Given the description of an element on the screen output the (x, y) to click on. 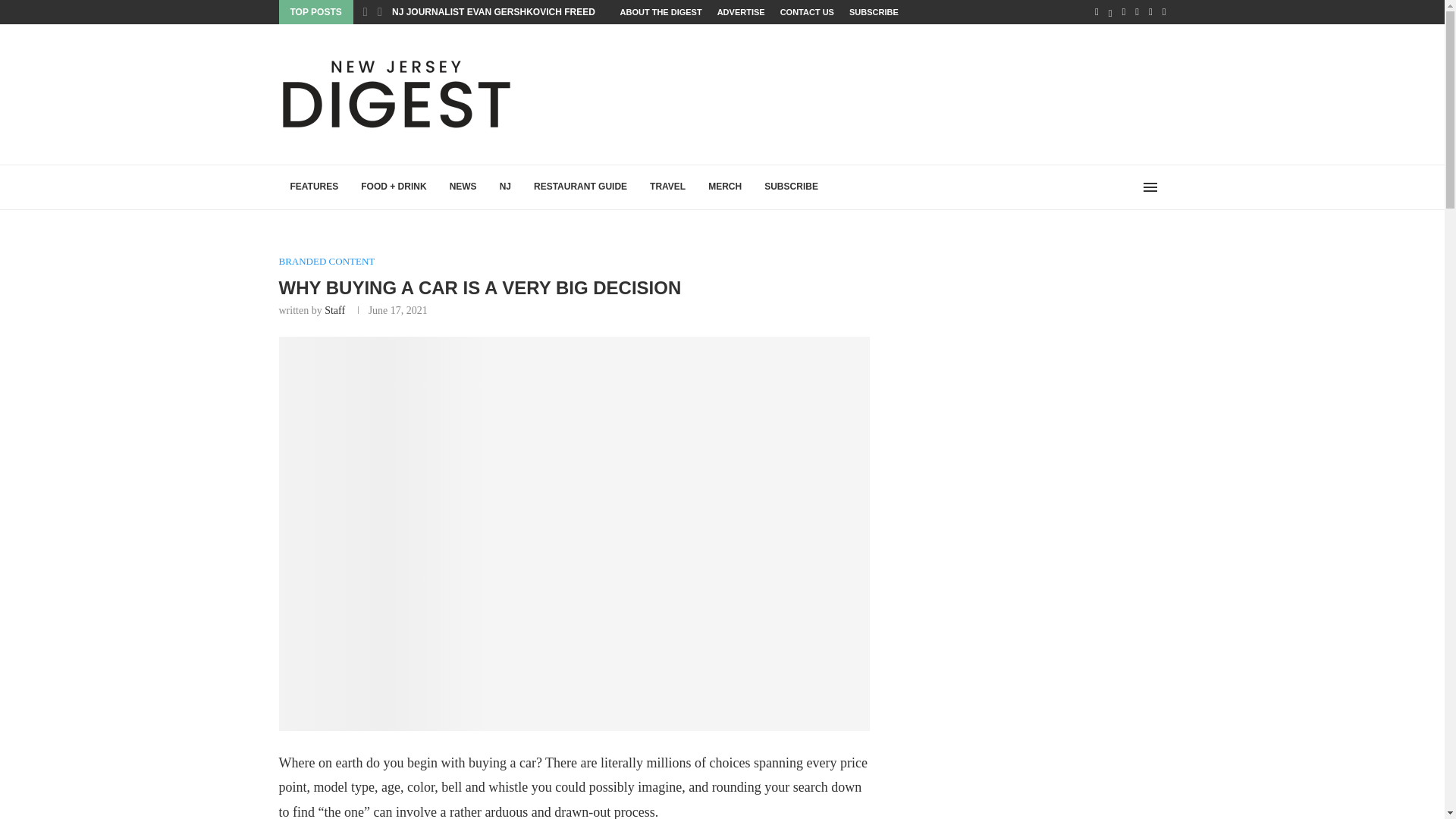
NEWS (462, 186)
FEATURES (314, 186)
SUBSCRIBE (790, 186)
RESTAURANT GUIDE (580, 186)
TRAVEL (668, 186)
BRANDED CONTENT (327, 261)
ADVERTISE (741, 12)
Staff (334, 310)
NJ JOURNALIST EVAN GERSHKOVICH FREED AFTER DETENTION IN... (546, 11)
CONTACT US (807, 12)
MERCH (724, 186)
ABOUT THE DIGEST (660, 12)
SUBSCRIBE (873, 12)
